Given the description of an element on the screen output the (x, y) to click on. 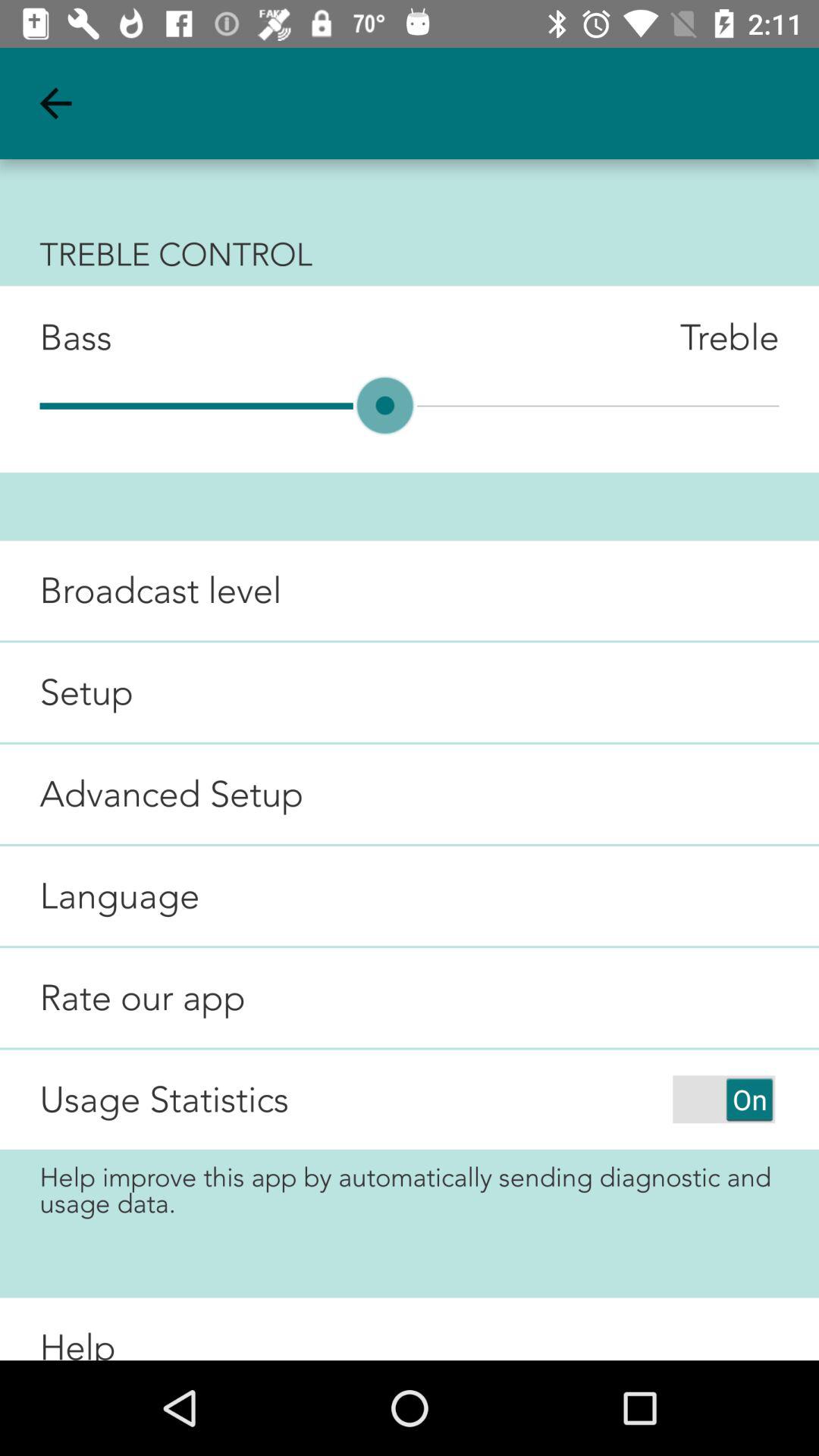
jump to advanced setup (151, 794)
